Given the description of an element on the screen output the (x, y) to click on. 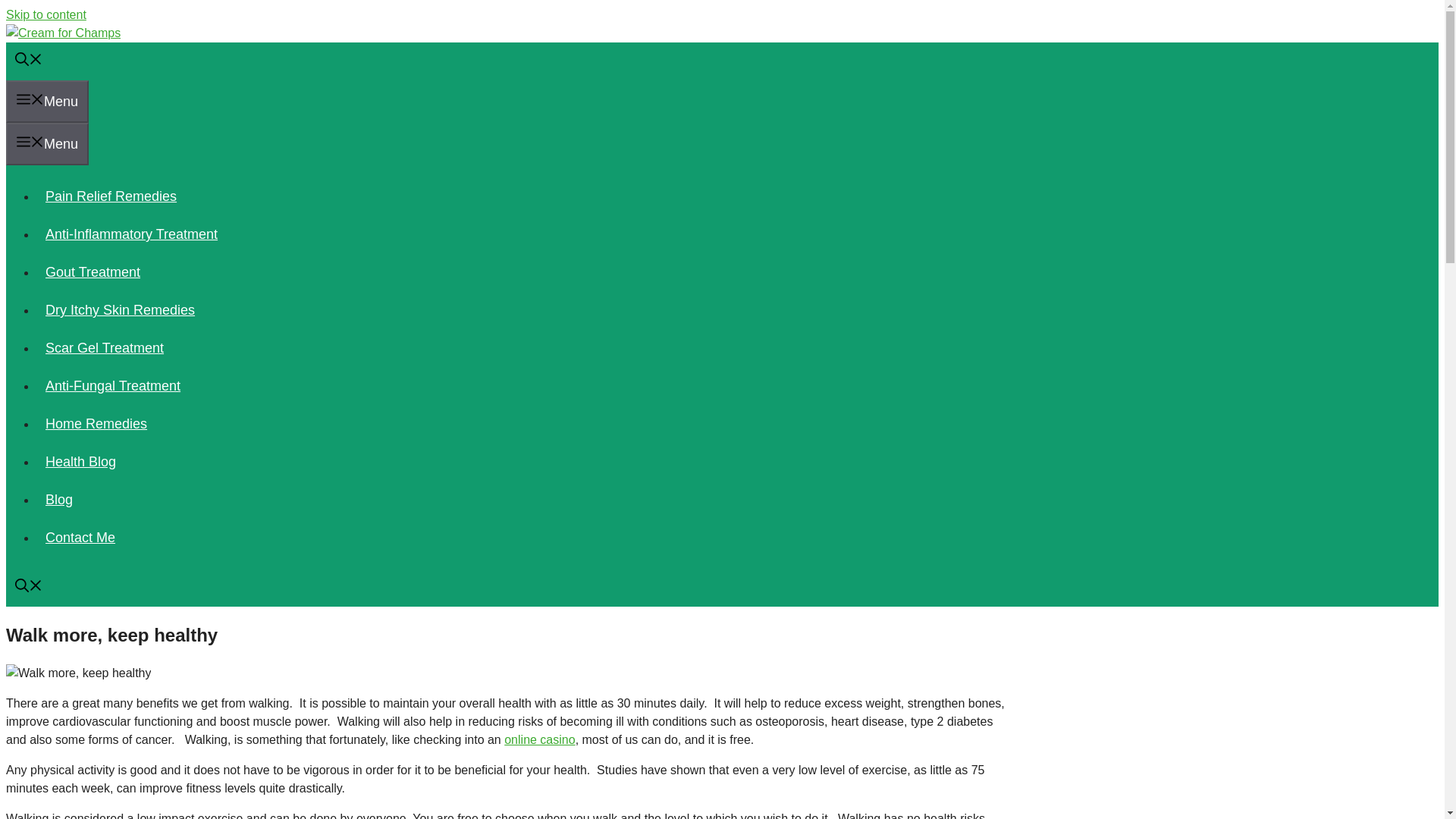
Contact Me (79, 537)
Dry Itchy Skin Remedies (119, 309)
Anti-Inflammatory Treatment (131, 233)
Health Blog (80, 461)
Skip to content (45, 14)
Menu (46, 101)
Menu (46, 143)
Gout Treatment (92, 272)
Anti-Fungal Treatment (112, 385)
Blog (58, 499)
